Given the description of an element on the screen output the (x, y) to click on. 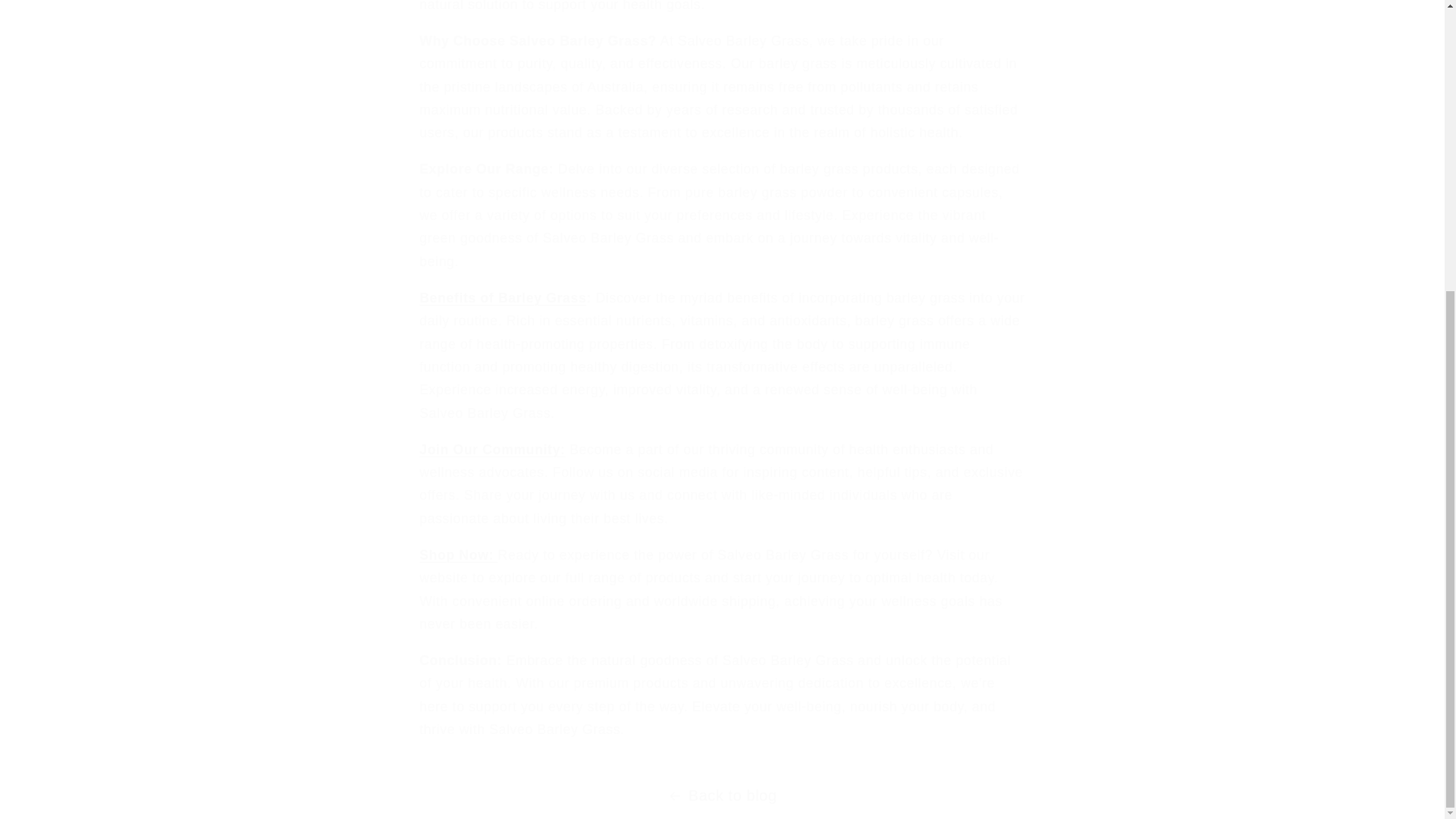
Benefits of Barley Grass (502, 297)
Join Our Community: (491, 449)
Shop Now: (458, 554)
